Given the description of an element on the screen output the (x, y) to click on. 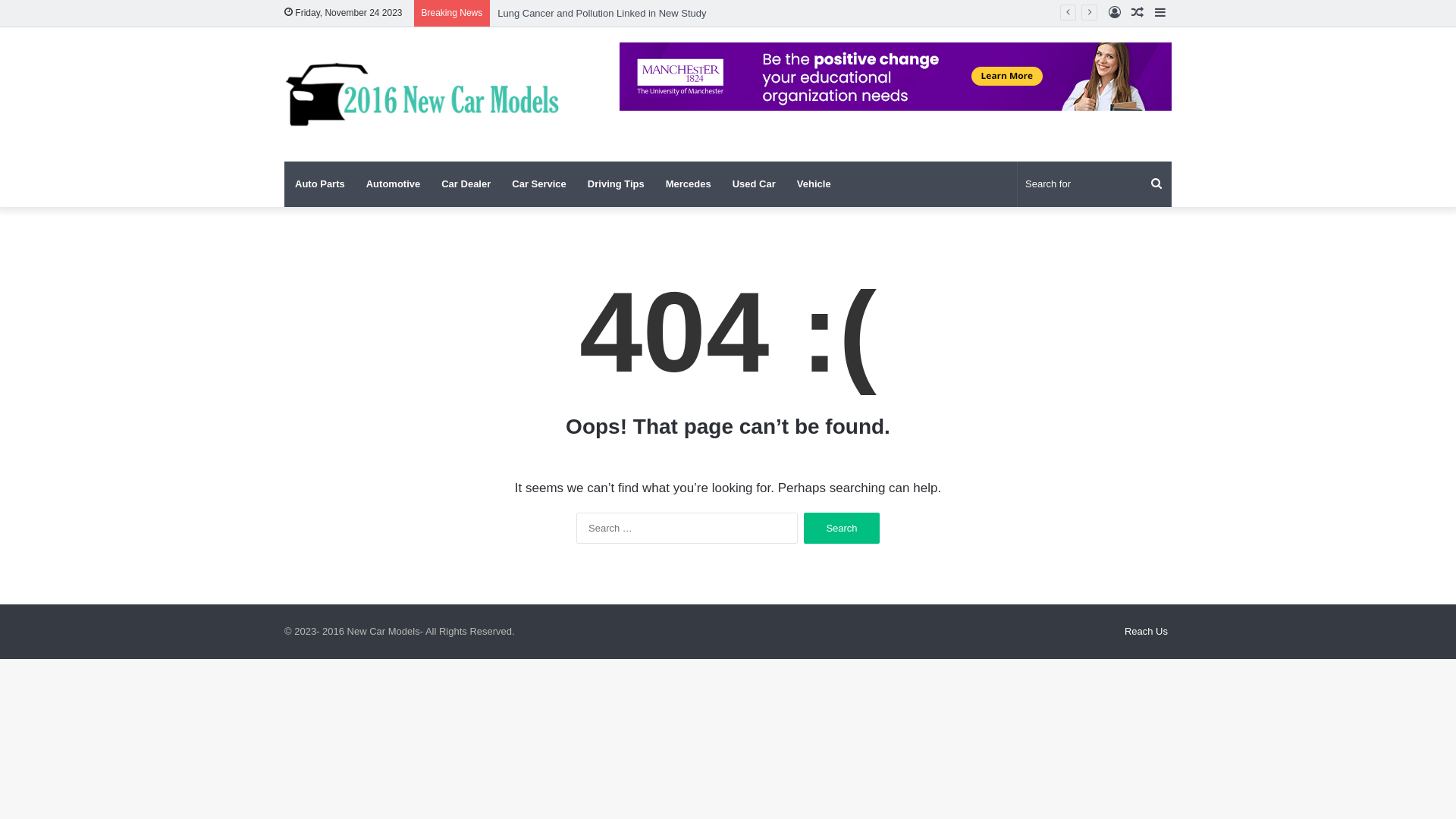
Lung Cancer and Pollution Linked in New Study Element type: text (601, 12)
Search for Element type: hover (1094, 184)
Reach Us Element type: text (1145, 631)
Auto Parts Element type: text (319, 184)
Random Article Element type: text (1137, 13)
Car Dealer Element type: text (465, 184)
Car Service Element type: text (539, 184)
Search for Element type: text (1156, 184)
Vehicle Element type: text (813, 184)
Sidebar Element type: text (1159, 13)
Log In Element type: text (1114, 13)
Used Car Element type: text (753, 184)
Driving Tips Element type: text (616, 184)
Search Element type: text (841, 527)
2016 New Car Models - Info on car dealer Element type: hover (424, 94)
Mercedes Element type: text (688, 184)
Automotive Element type: text (393, 184)
